Given the description of an element on the screen output the (x, y) to click on. 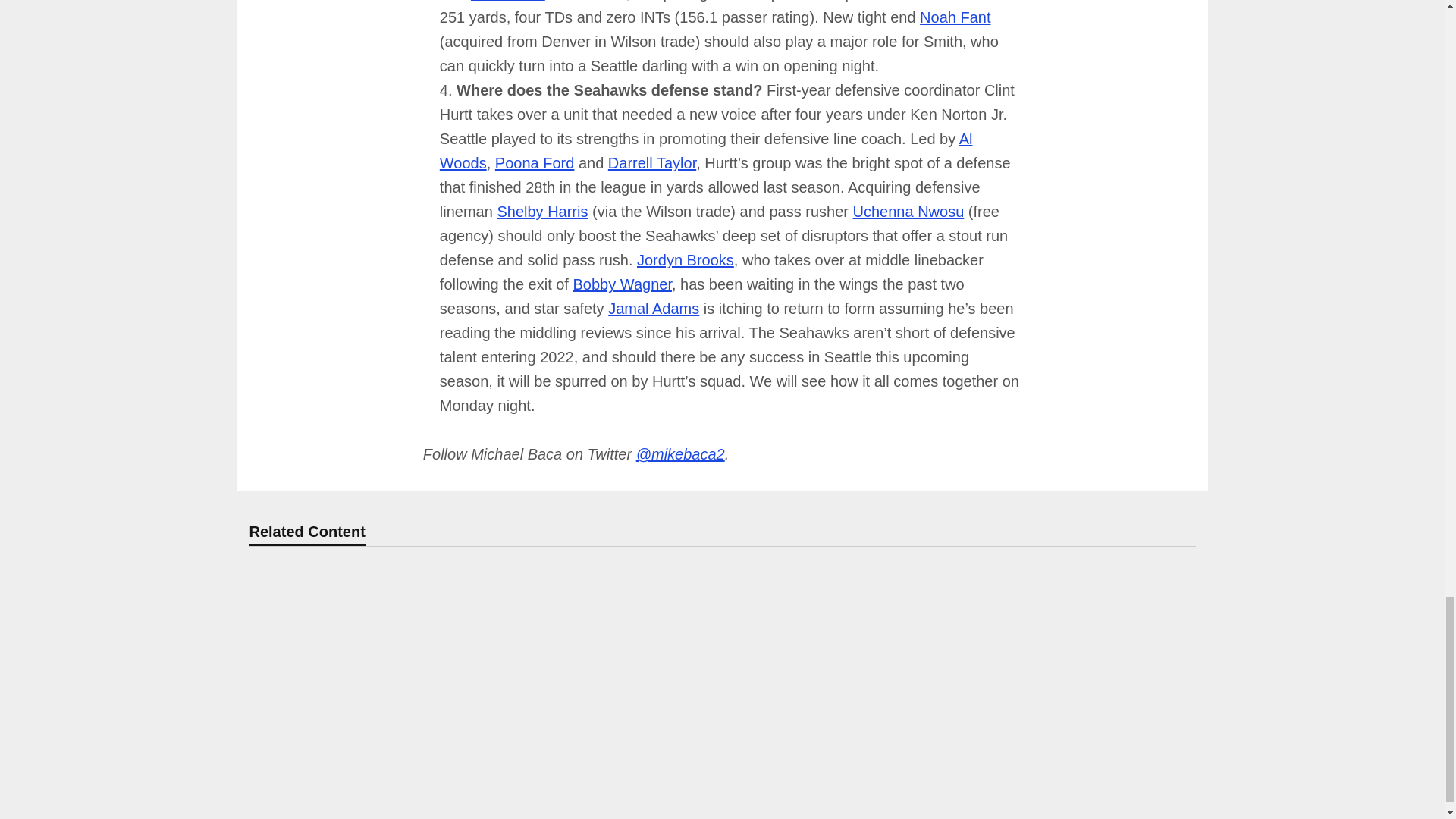
Al Woods (705, 150)
Poona Ford (535, 162)
DK Metcalf (507, 0)
Jamal Adams (653, 308)
Shelby Harris (542, 211)
Jordyn Brooks (685, 259)
Darrell Taylor (651, 162)
Noah Fant (955, 17)
Bobby Wagner (621, 284)
Uchenna Nwosu (908, 211)
